Given the description of an element on the screen output the (x, y) to click on. 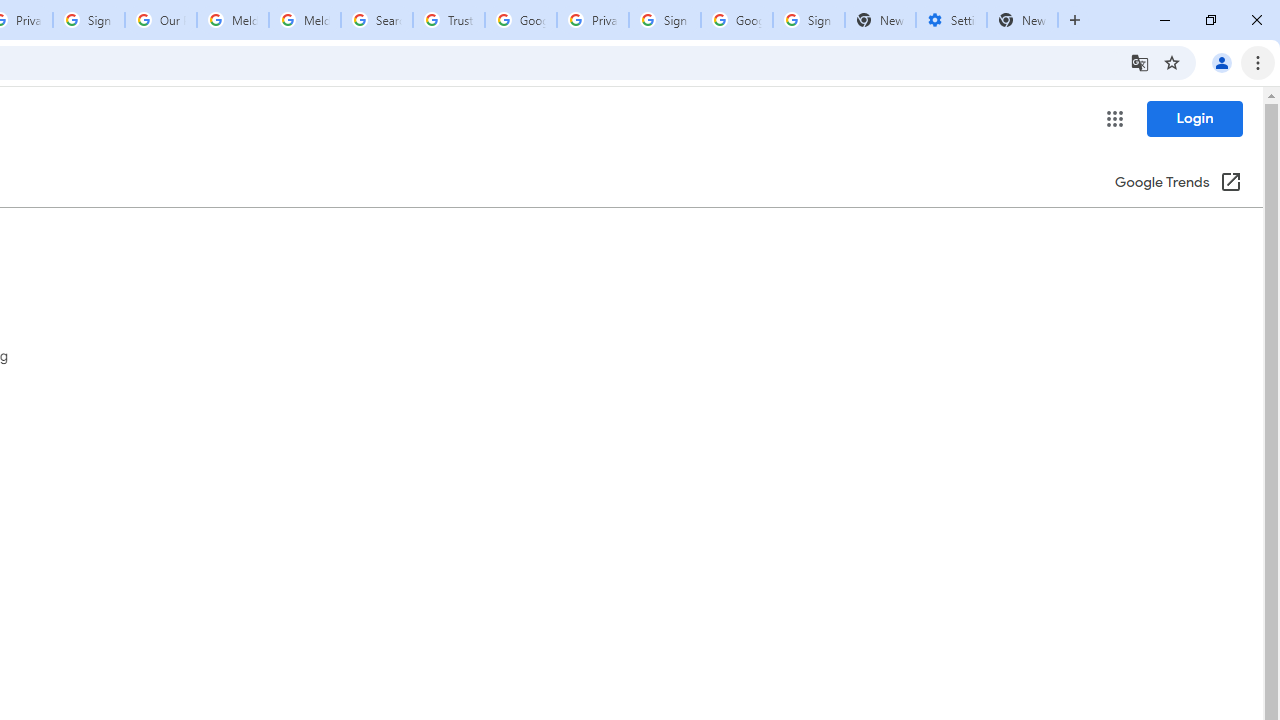
Google Cybersecurity Innovations - Google Safety Center (737, 20)
Google Ads - Sign in (520, 20)
Translate this page (1139, 62)
New Tab (1022, 20)
Search our Doodle Library Collection - Google Doodles (376, 20)
Login (1194, 118)
Google Trends (Opens in new window) (1177, 183)
